Given the description of an element on the screen output the (x, y) to click on. 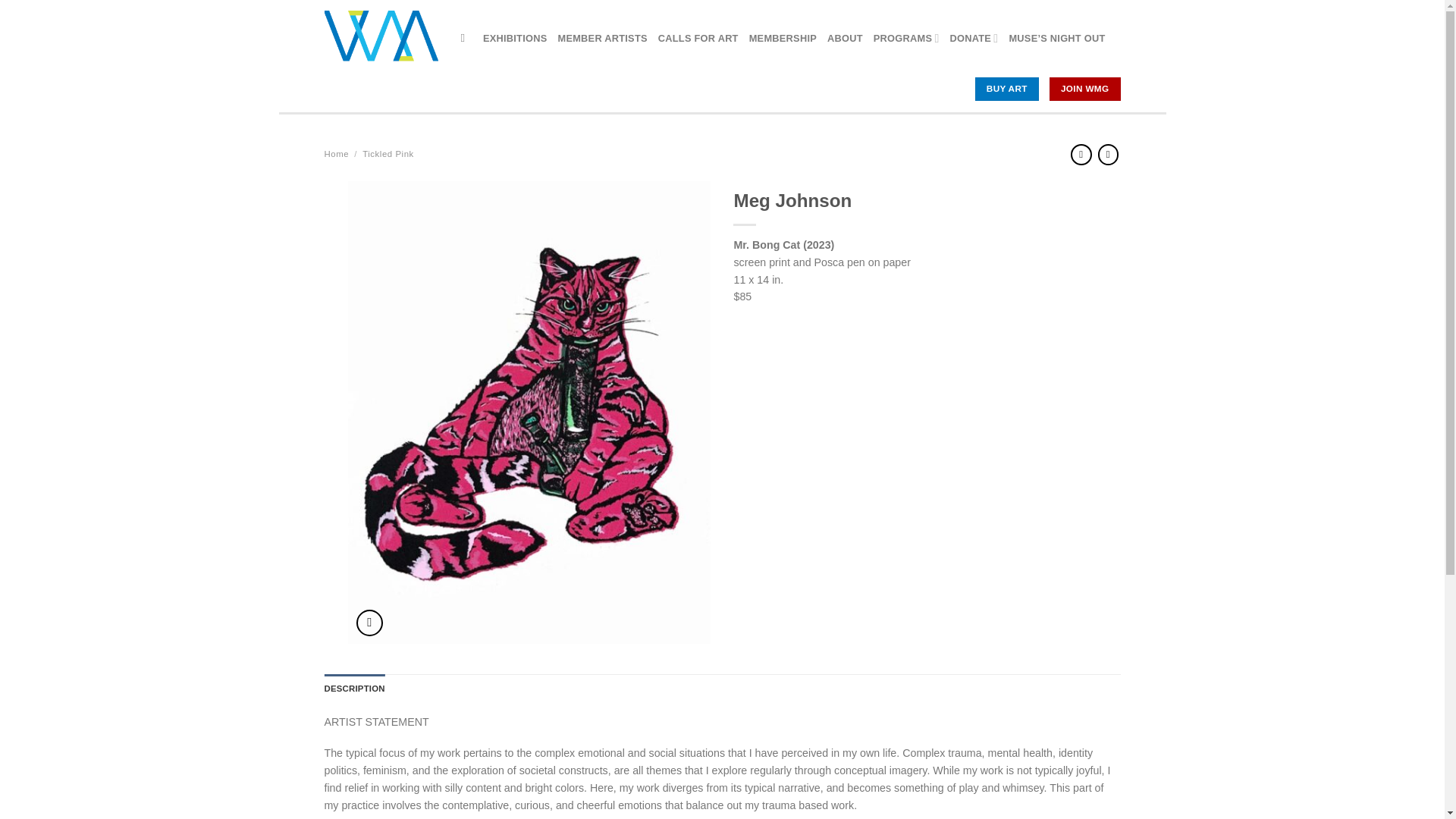
CALLS FOR ART (698, 37)
Tickled Pink (387, 153)
Zoom (369, 622)
Home (336, 153)
ABOUT (845, 37)
EXHIBITIONS (515, 37)
MEMBER ARTISTS (601, 37)
MEMBERSHIP (782, 37)
